Given the description of an element on the screen output the (x, y) to click on. 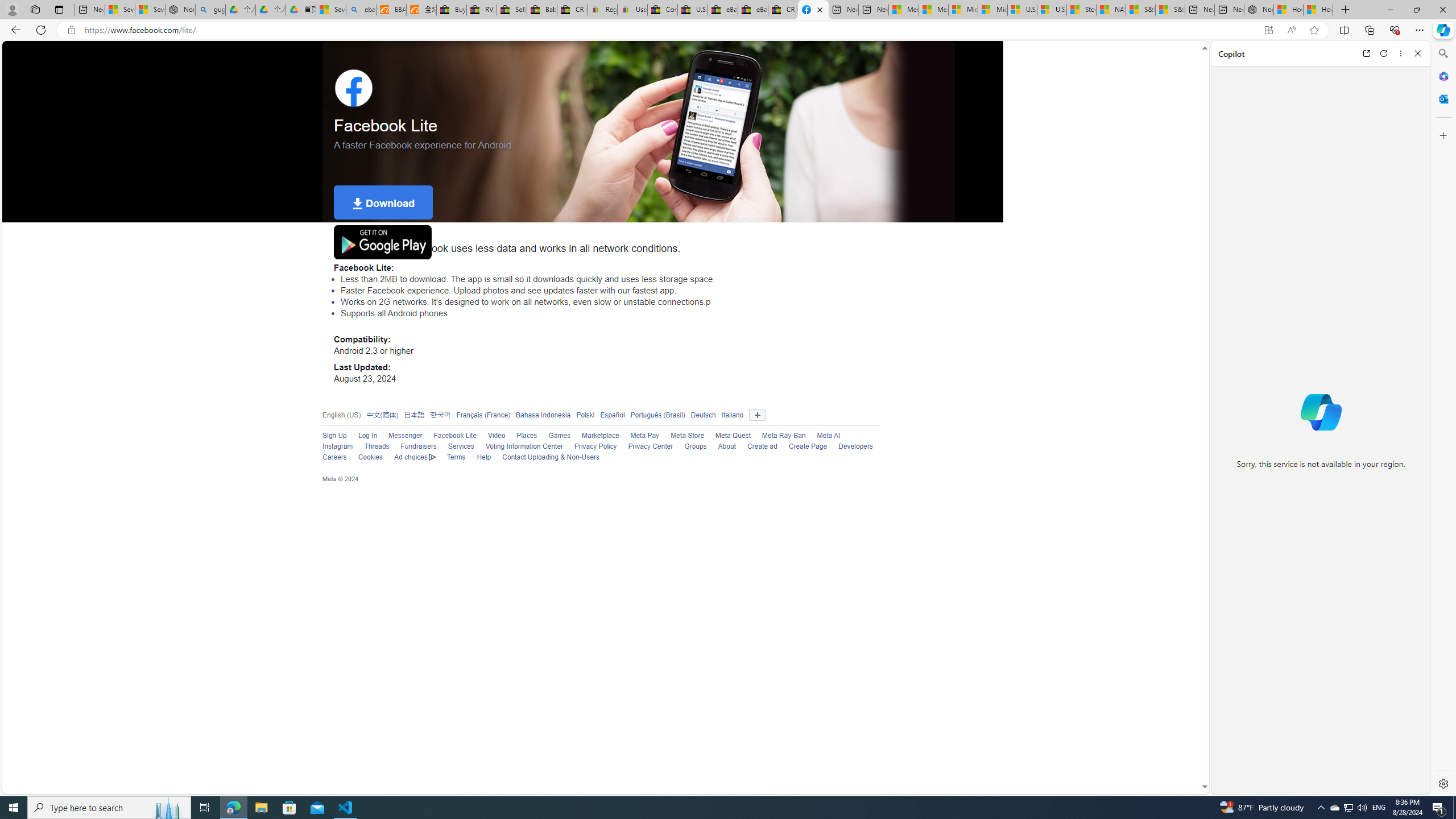
Terms (455, 456)
Meta Quest (727, 436)
Help (484, 456)
Address and search bar (669, 29)
Fundraisers (412, 446)
Privacy Center (643, 446)
Open link in new tab (1366, 53)
Groups (689, 446)
New Tab (1346, 9)
Microsoft 365 (1442, 76)
Contact Uploading & Non-Users (550, 456)
Sell worldwide with eBay (511, 9)
Tab actions menu (58, 9)
